Given the description of an element on the screen output the (x, y) to click on. 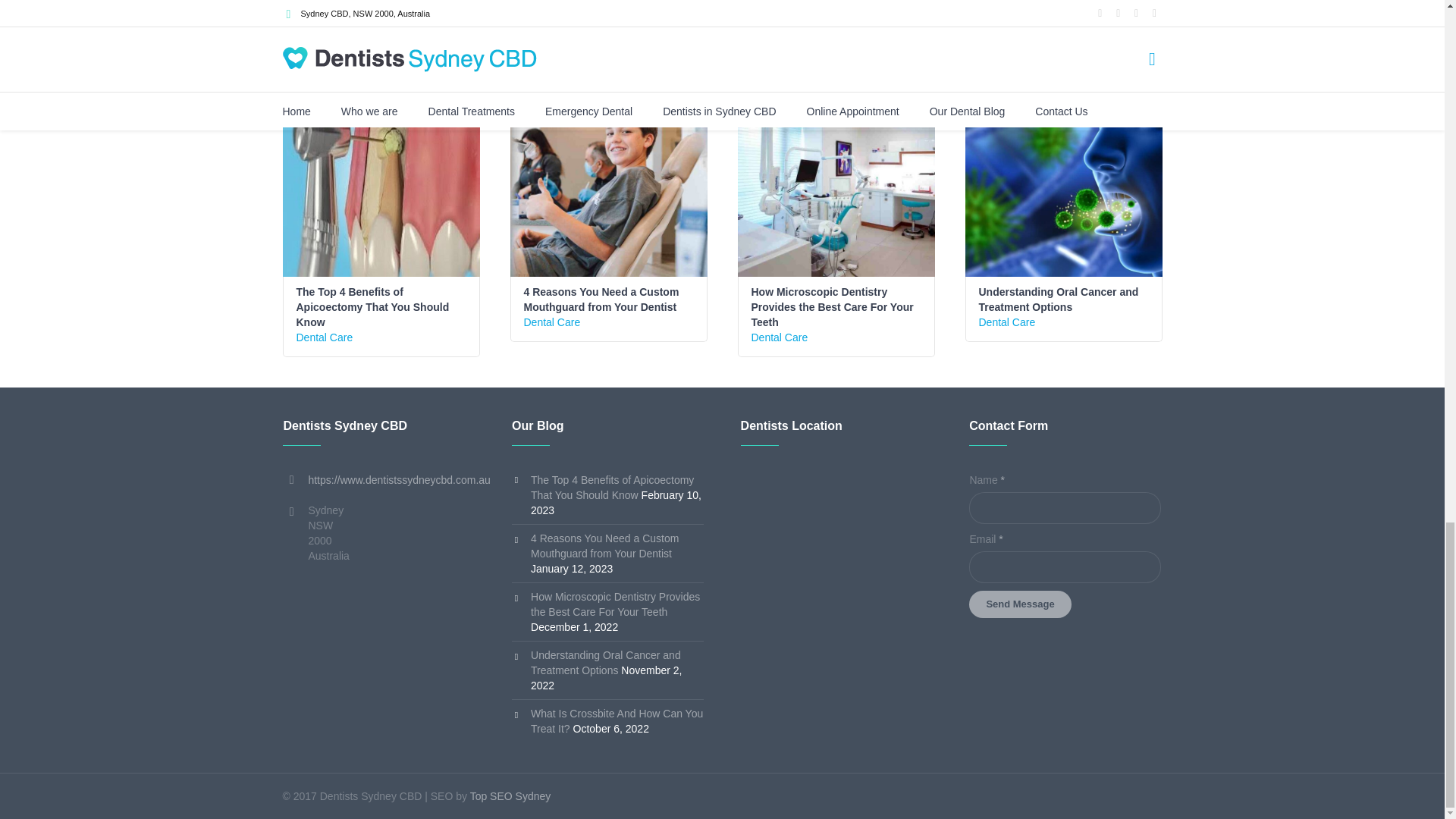
The Top 4 Benefits of Apicoectomy That You Should Know (371, 306)
4 Reasons You Need a Custom Mouthguard from Your Dentist (607, 177)
The Top 4 Benefits of Apicoectomy That You Should Know (380, 177)
4 Reasons You Need a Custom Mouthguard from Your Dentist (600, 298)
